Given the description of an element on the screen output the (x, y) to click on. 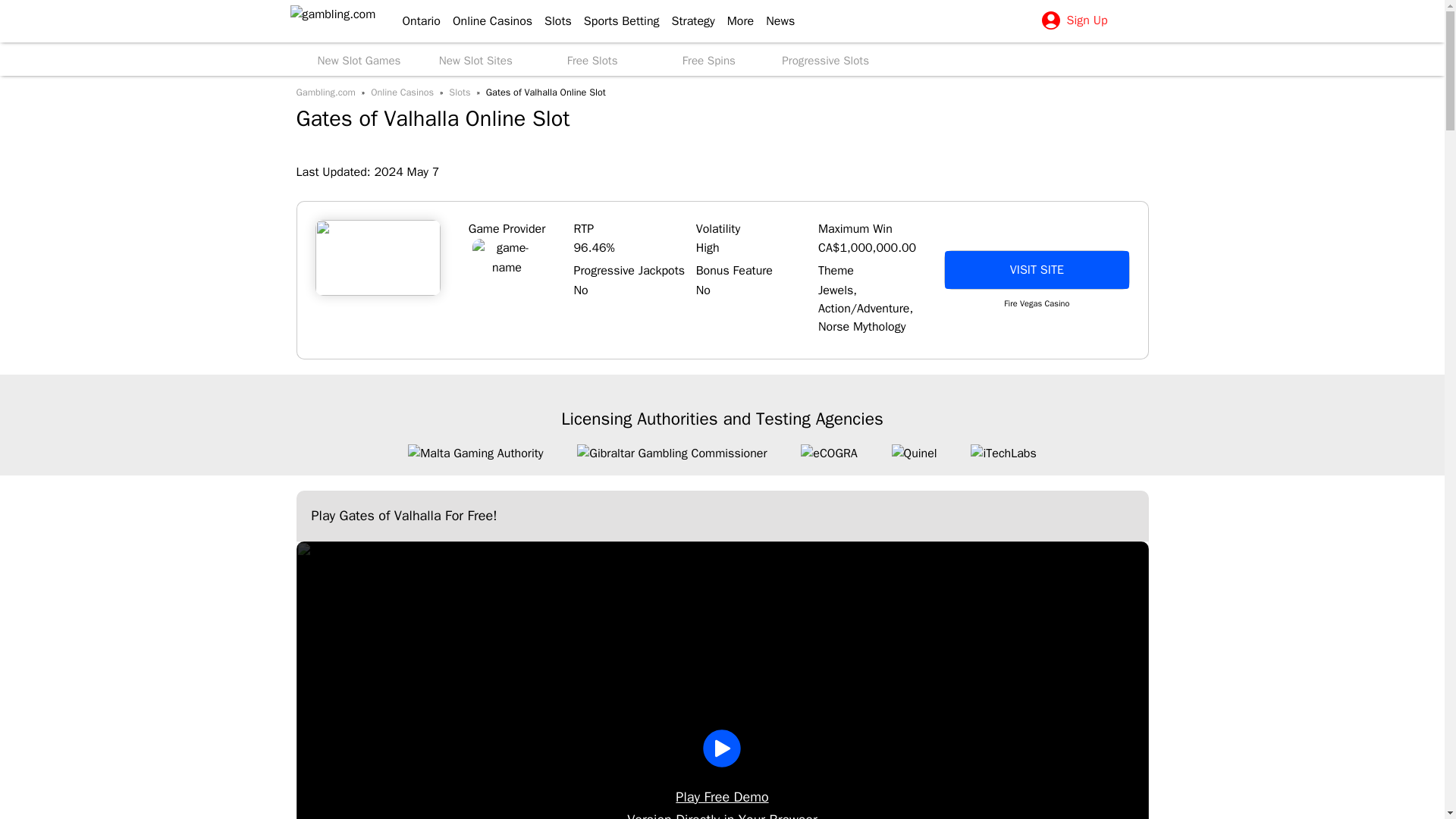
Online Casinos (486, 21)
Slots (552, 21)
Ontario (414, 21)
